Given the description of an element on the screen output the (x, y) to click on. 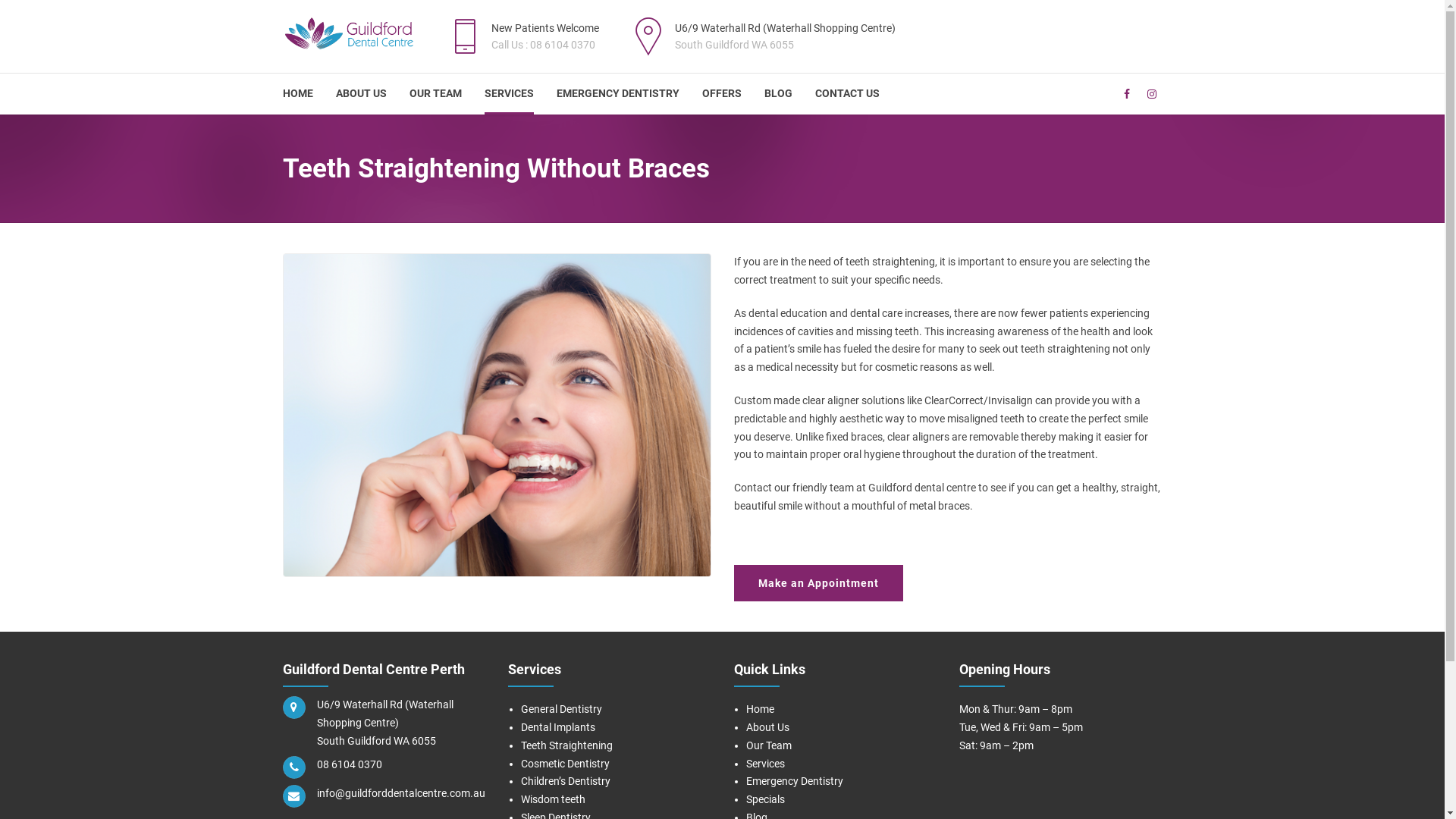
Our Team Element type: text (768, 745)
BLOG Element type: text (778, 93)
Wisdom teeth Element type: text (552, 799)
CONTACT US Element type: text (846, 93)
ABOUT US Element type: text (360, 93)
Emergency Dentistry Element type: text (794, 781)
OUR TEAM Element type: text (435, 93)
Teeth Straightening Element type: text (566, 745)
Dental Implants Element type: text (557, 727)
Cosmetic Dentistry Element type: text (564, 763)
SERVICES Element type: text (508, 93)
Home Element type: text (760, 708)
Make an Appointment Element type: text (818, 582)
Services Element type: text (765, 763)
General Dentistry Element type: text (561, 708)
HOME Element type: text (297, 93)
New Patients Welcome
Call Us : 08 6104 0370 Element type: text (520, 36)
About Us Element type: text (767, 727)
Specials Element type: text (765, 799)
EMERGENCY DENTISTRY Element type: text (617, 93)
OFFERS Element type: text (721, 93)
